Given the description of an element on the screen output the (x, y) to click on. 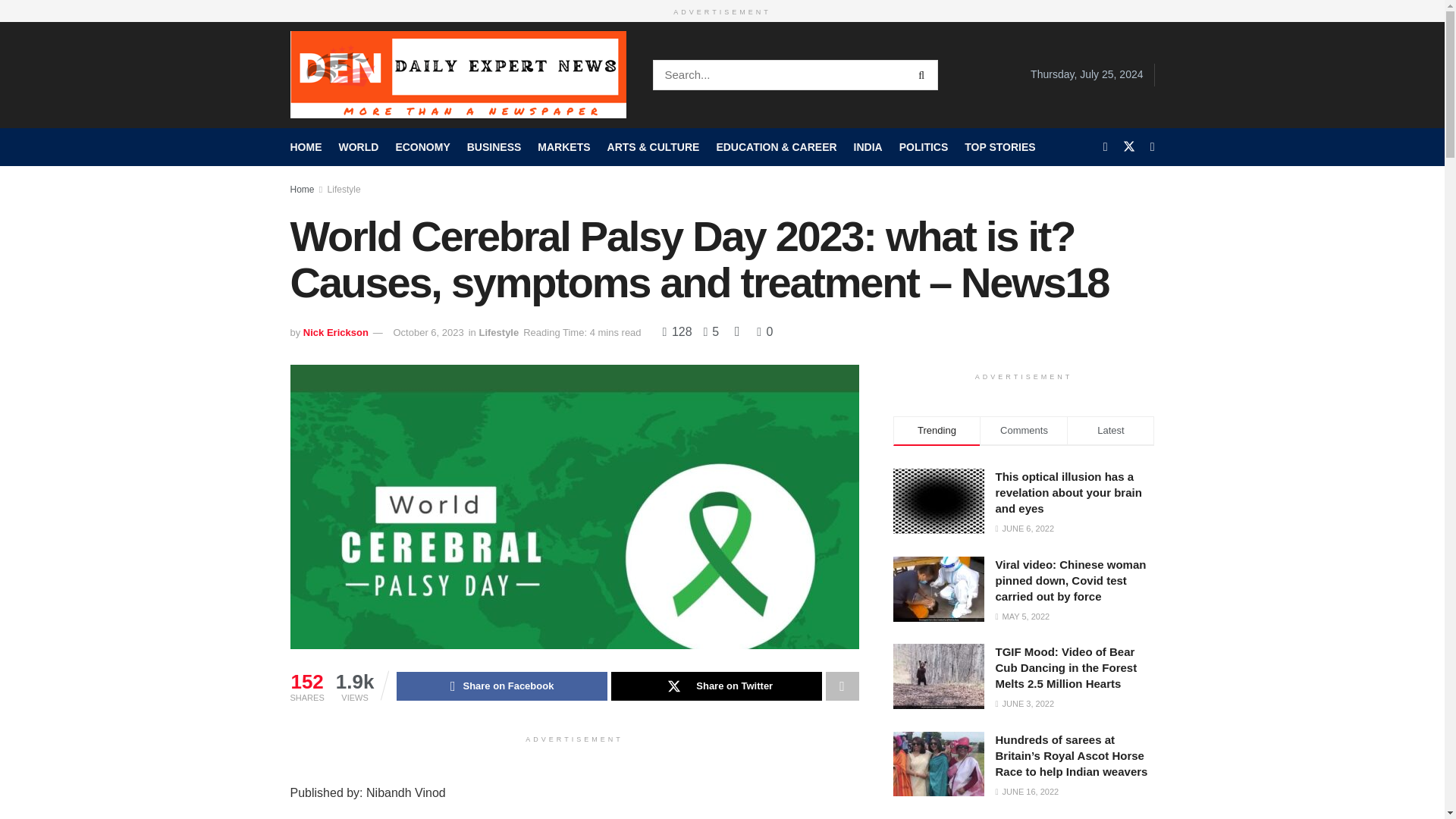
TOP STORIES (999, 146)
WORLD (357, 146)
MARKETS (563, 146)
BUSINESS (494, 146)
ECONOMY (421, 146)
POLITICS (924, 146)
